Given the description of an element on the screen output the (x, y) to click on. 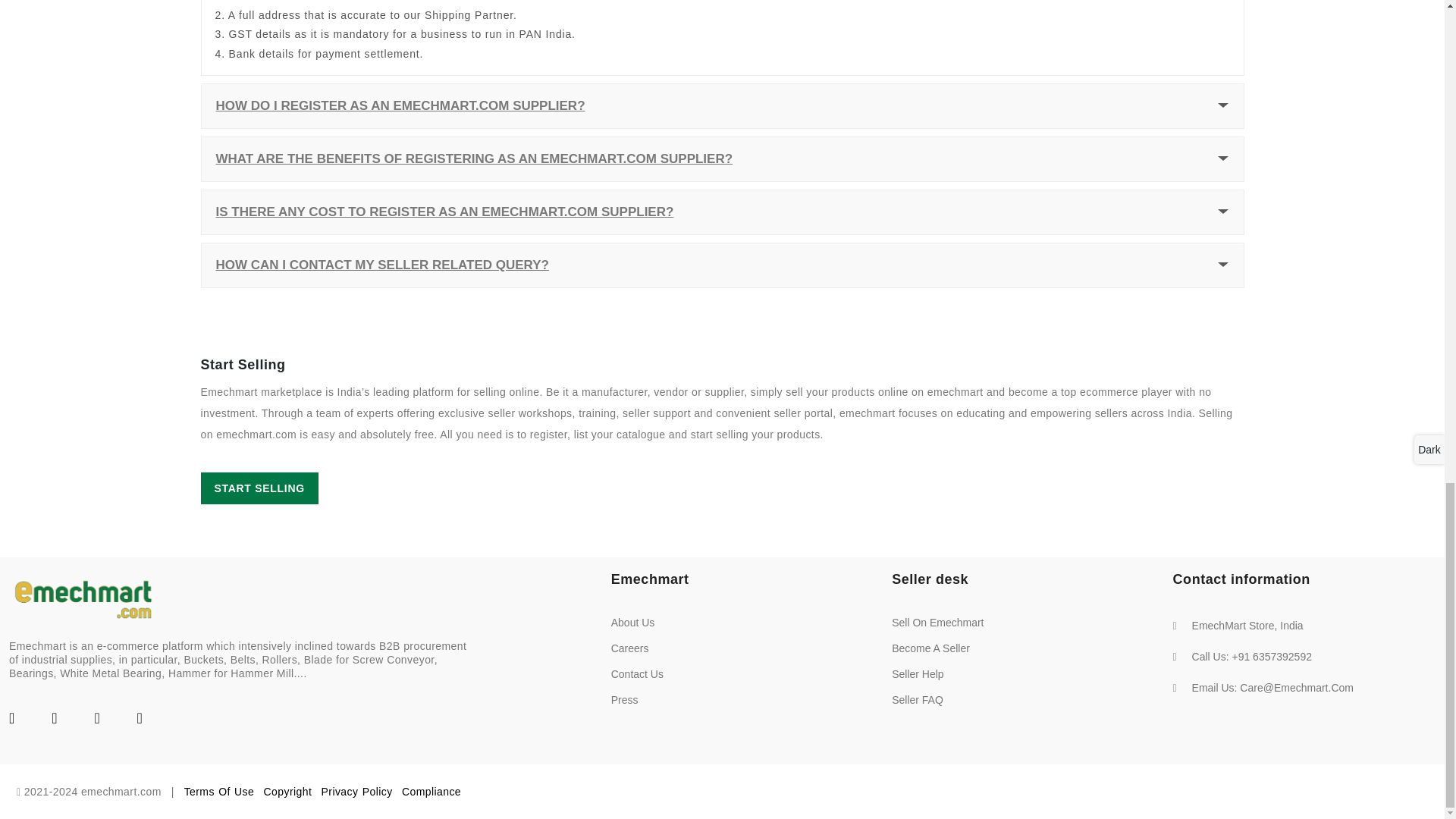
HOW DO I REGISTER AS AN EMECHMART.COM SUPPLIER? (400, 105)
Press (625, 699)
Careers (630, 648)
IS THERE ANY COST TO REGISTER AS AN EMECHMART.COM SUPPLIER? (445, 212)
HOW CAN I CONTACT MY SELLER RELATED QUERY? (382, 265)
Seller Help (917, 674)
Terms Of Use (219, 791)
START SELLING (258, 488)
About Us (633, 622)
Become A Seller (930, 648)
Compliance (431, 791)
Sell On Emechmart (937, 622)
Copyright (288, 791)
Contact Us (637, 674)
